Given the description of an element on the screen output the (x, y) to click on. 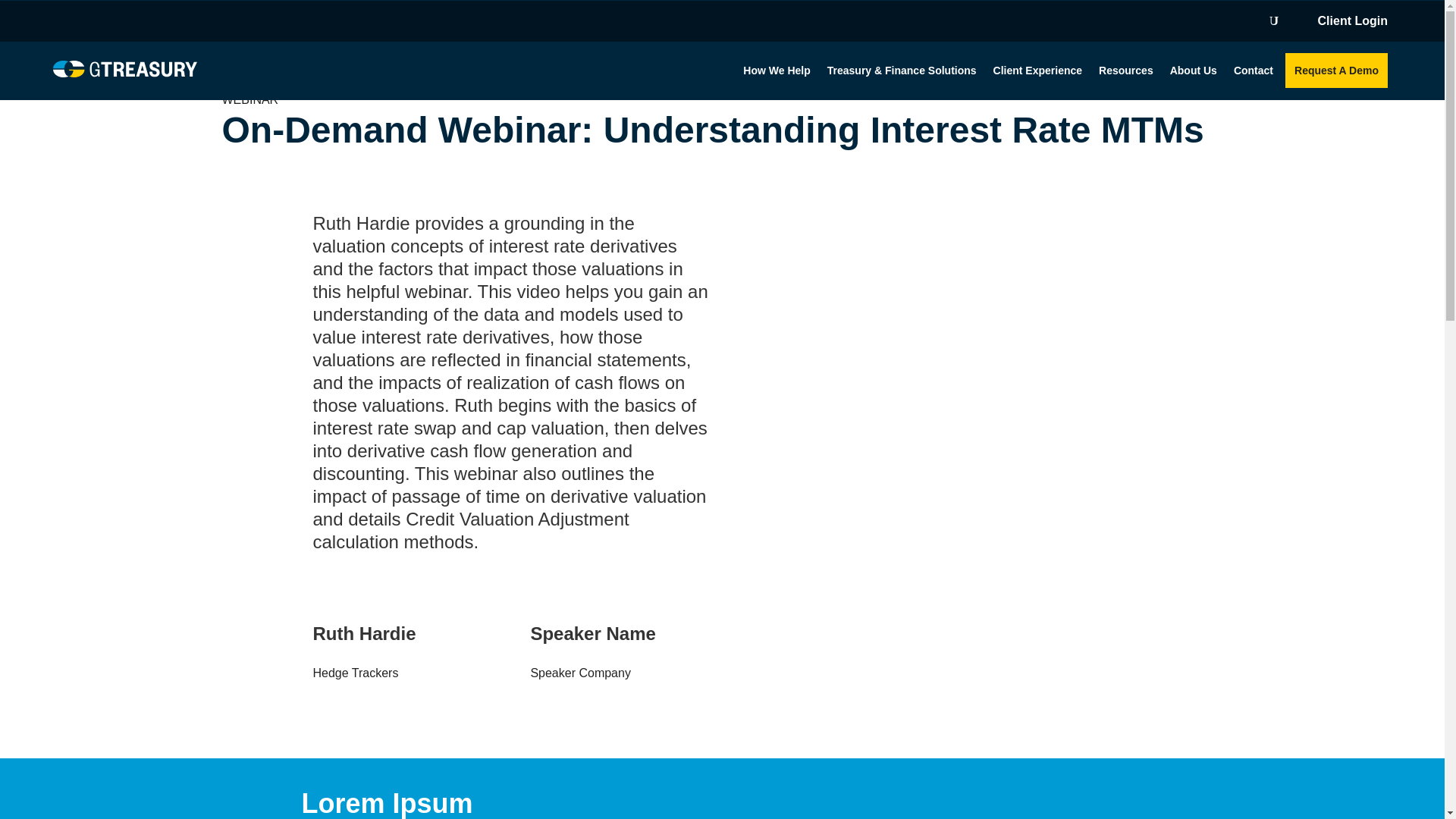
How We Help (775, 70)
Client Experience (1037, 70)
GTreasury-Logo-Horizontal-Reverse (124, 68)
Client Login (1354, 24)
Resources (1125, 70)
